Given the description of an element on the screen output the (x, y) to click on. 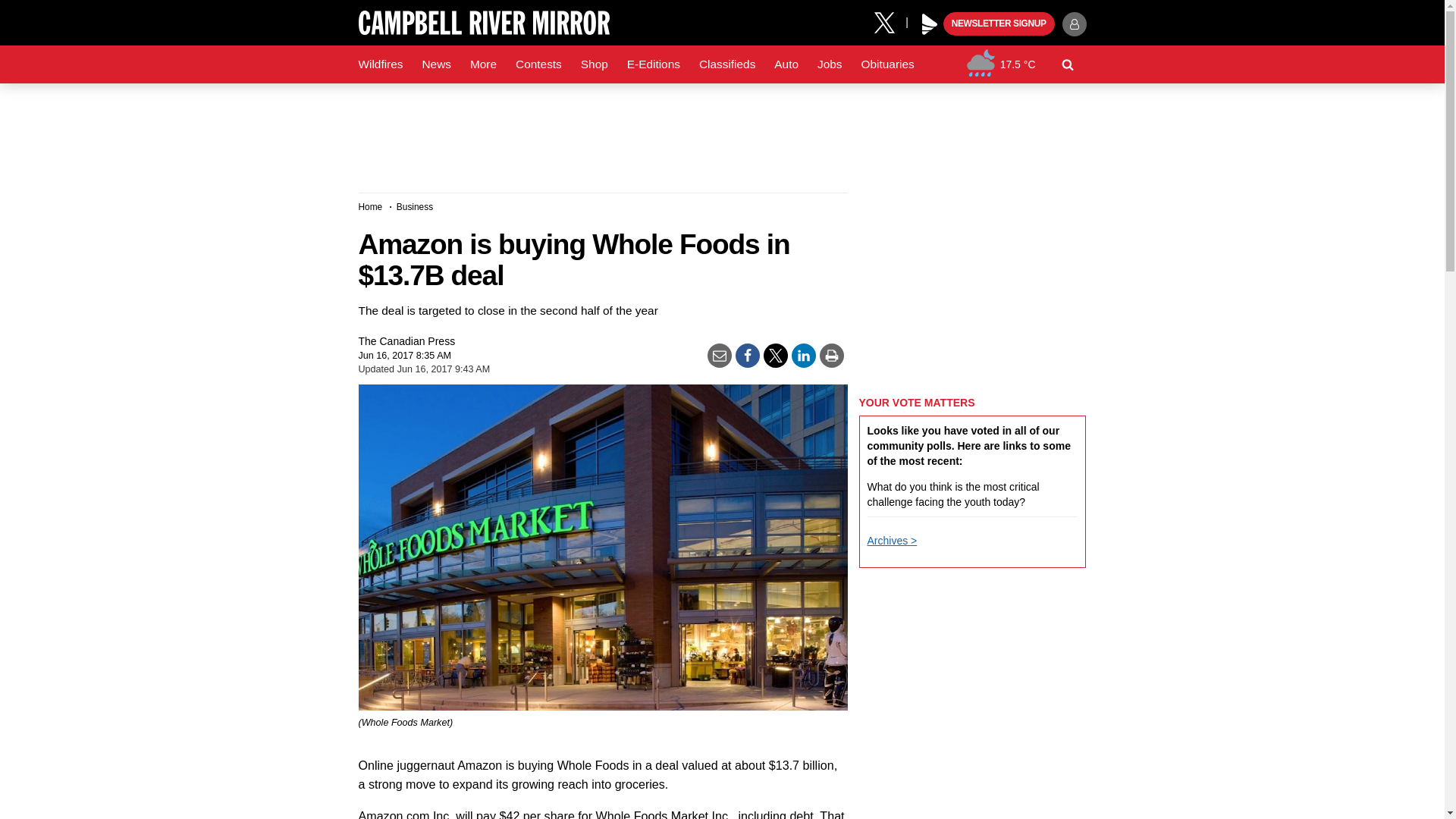
NEWSLETTER SIGNUP (998, 24)
News (435, 64)
Play (929, 24)
X (889, 21)
Wildfires (380, 64)
Black Press Media (929, 24)
